Given the description of an element on the screen output the (x, y) to click on. 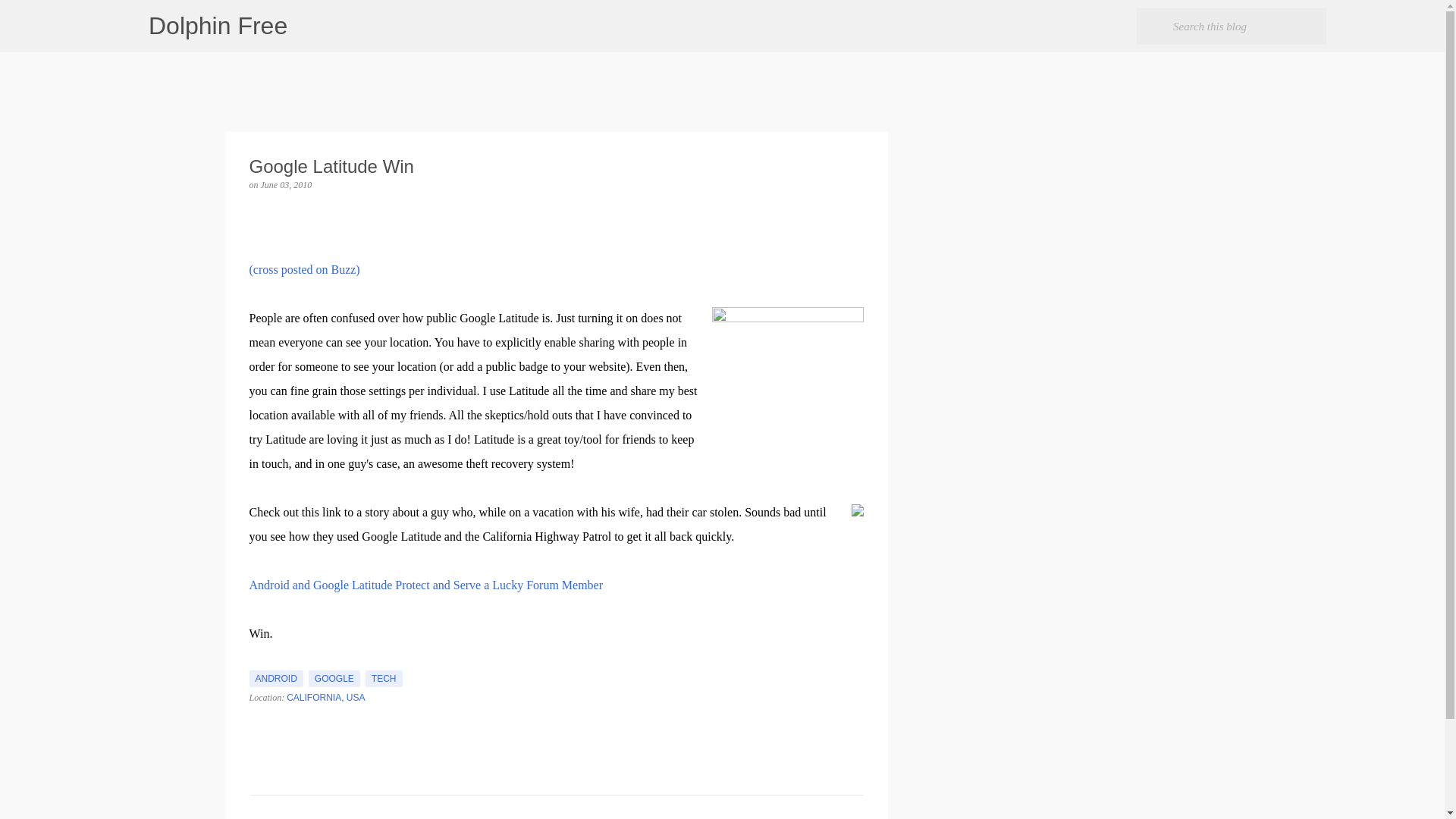
Dolphin Free (217, 25)
CALIFORNIA, USA (325, 697)
ANDROID (275, 678)
June 03, 2010 (286, 184)
permanent link (286, 184)
GOOGLE (333, 678)
Email Post (257, 661)
TECH (384, 678)
